Given the description of an element on the screen output the (x, y) to click on. 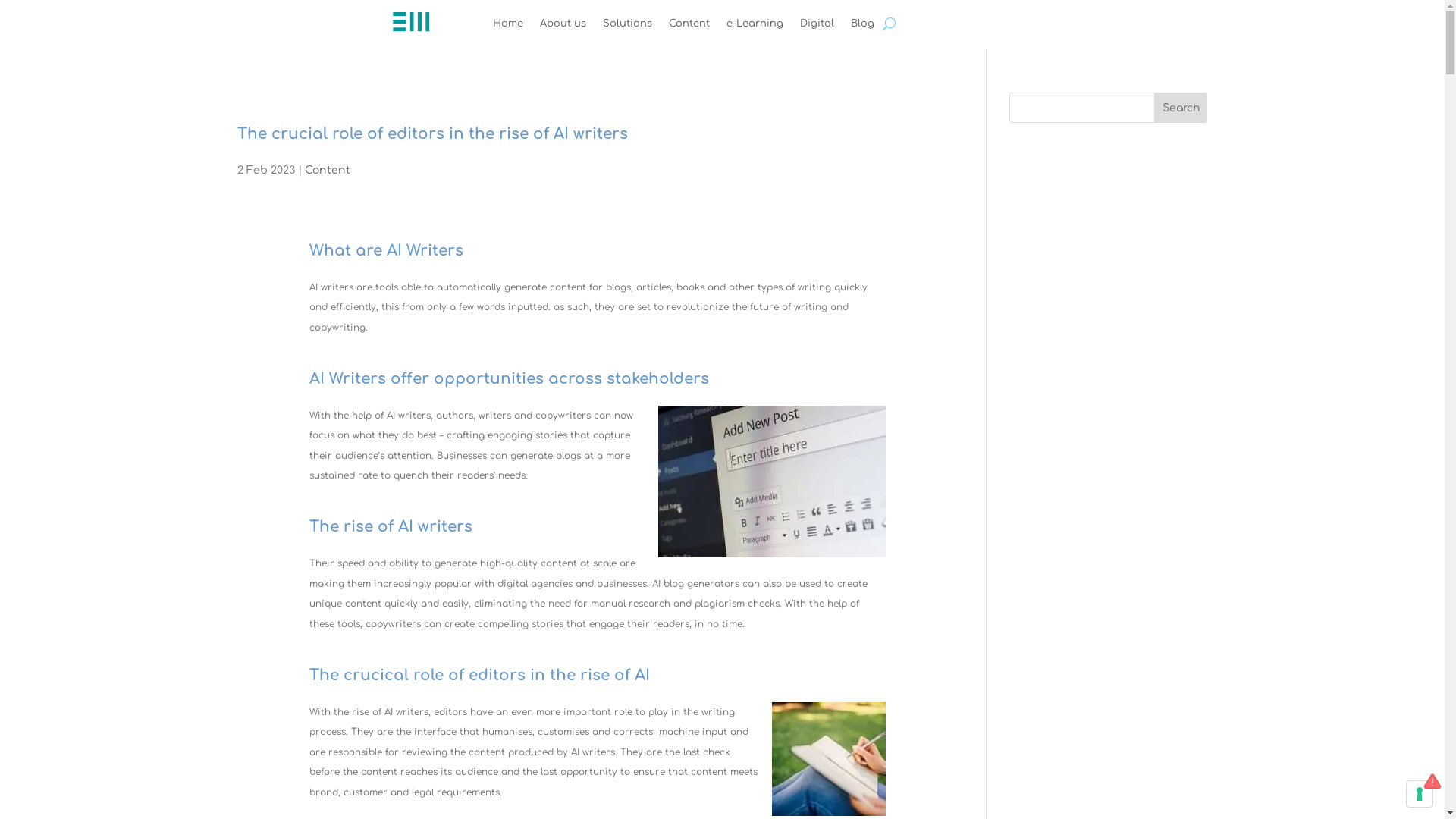
e-Learning Element type: text (754, 26)
3E Web Media Element type: hover (410, 22)
Home Element type: text (507, 26)
The crucial role of editors in the rise of AI writers 1 Element type: hover (771, 481)
Digital Element type: text (817, 26)
The crucial role of editors in the rise of AI writers Element type: text (431, 133)
Content Element type: text (327, 169)
Content Element type: text (688, 26)
Solutions Element type: text (627, 26)
The crucial role of editors in the rise of AI writers 3 Element type: hover (828, 758)
Search Element type: text (1181, 107)
About us Element type: text (562, 26)
Blog Element type: text (862, 26)
